Given the description of an element on the screen output the (x, y) to click on. 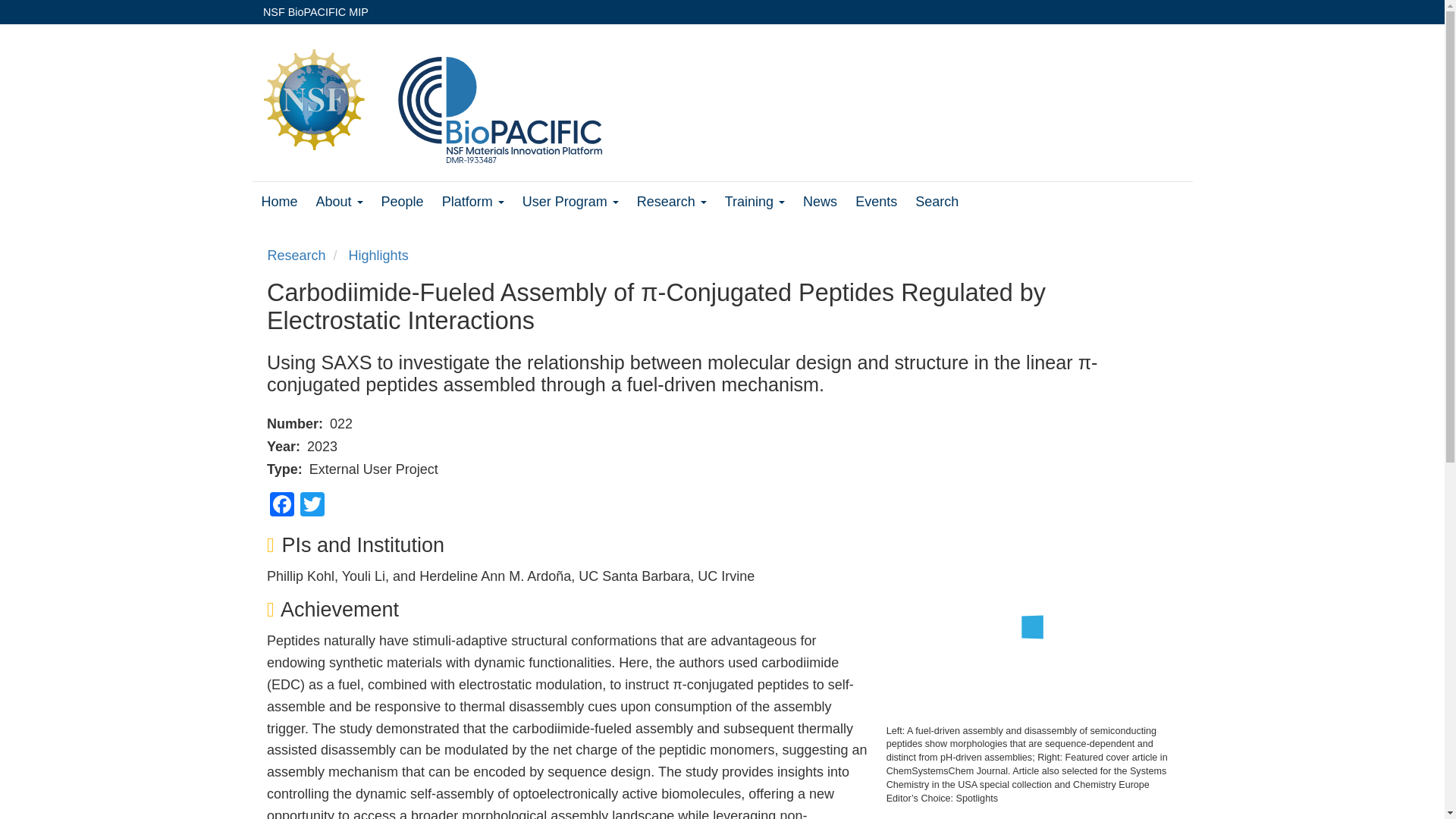
Search (936, 201)
User Program (570, 201)
Home (278, 201)
About (338, 201)
Events (876, 201)
People (402, 201)
Research (671, 201)
Platform (472, 201)
Training (754, 201)
